Given the description of an element on the screen output the (x, y) to click on. 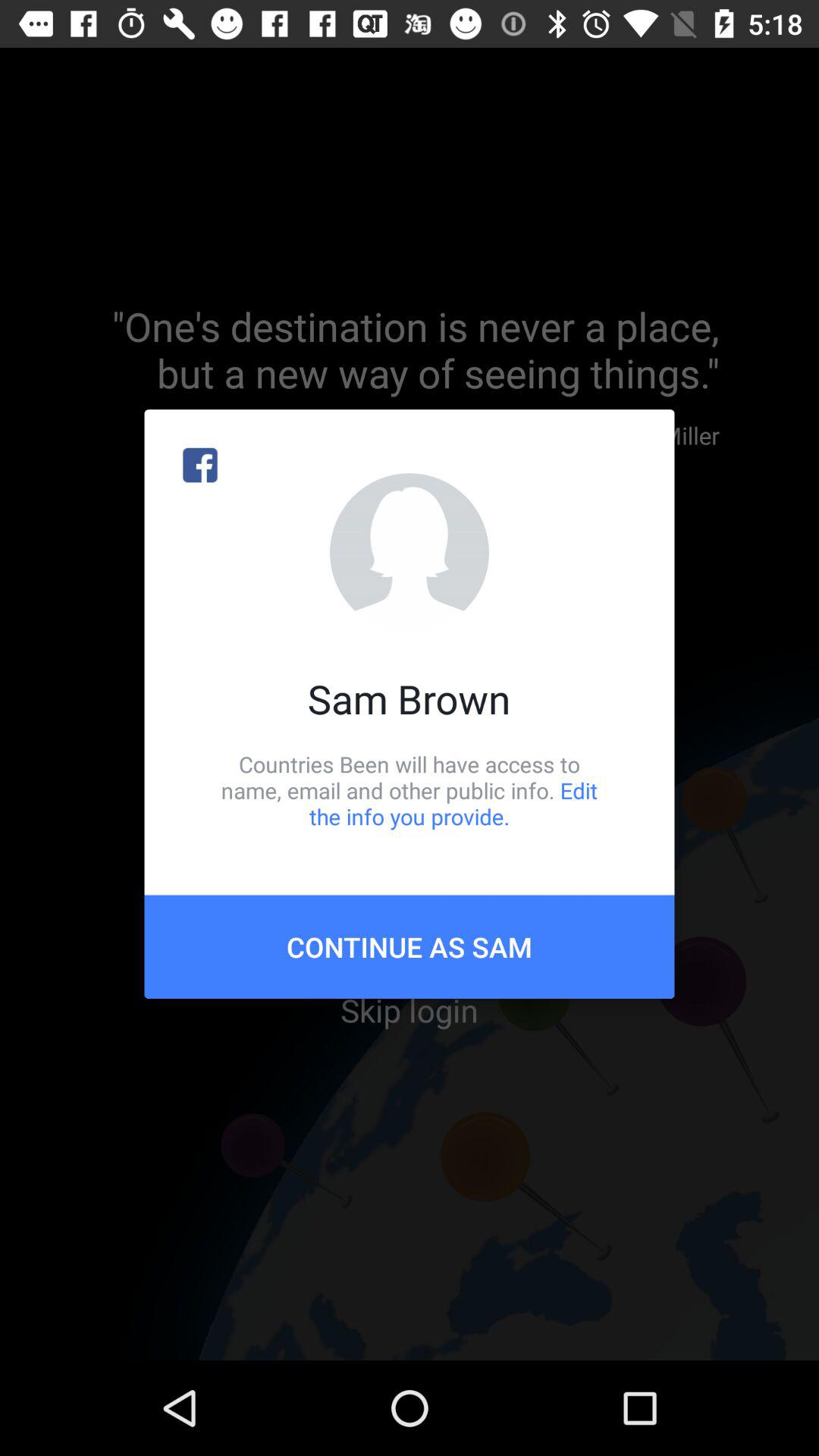
launch the icon below the countries been will icon (409, 946)
